Given the description of an element on the screen output the (x, y) to click on. 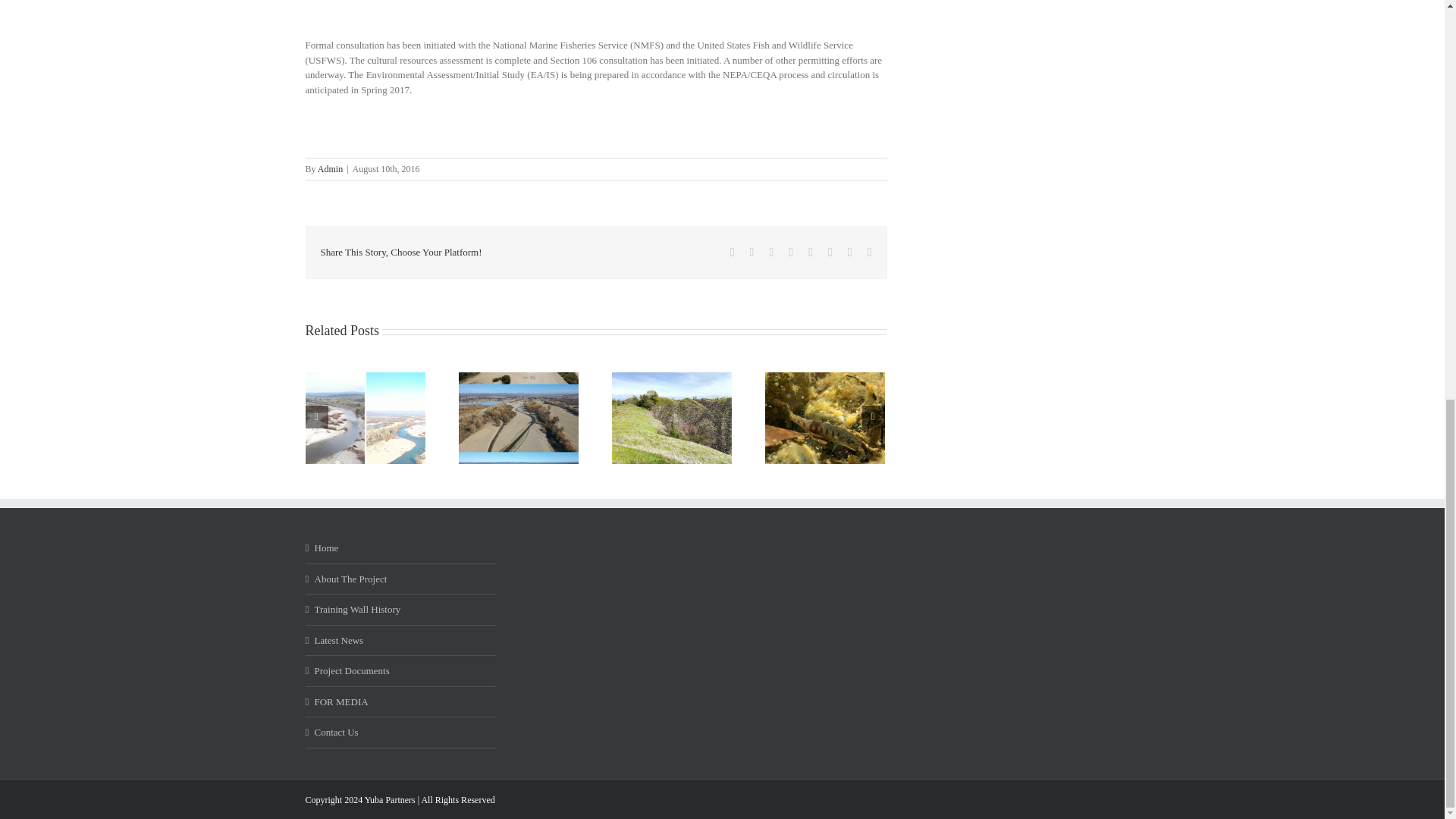
Reddit (770, 252)
LinkedIn (791, 252)
Pinterest (830, 252)
Vk (849, 252)
Facebook (732, 252)
Email (869, 252)
Tumblr (810, 252)
Posts by Admin (329, 168)
Twitter (751, 252)
Admin (329, 168)
